Given the description of an element on the screen output the (x, y) to click on. 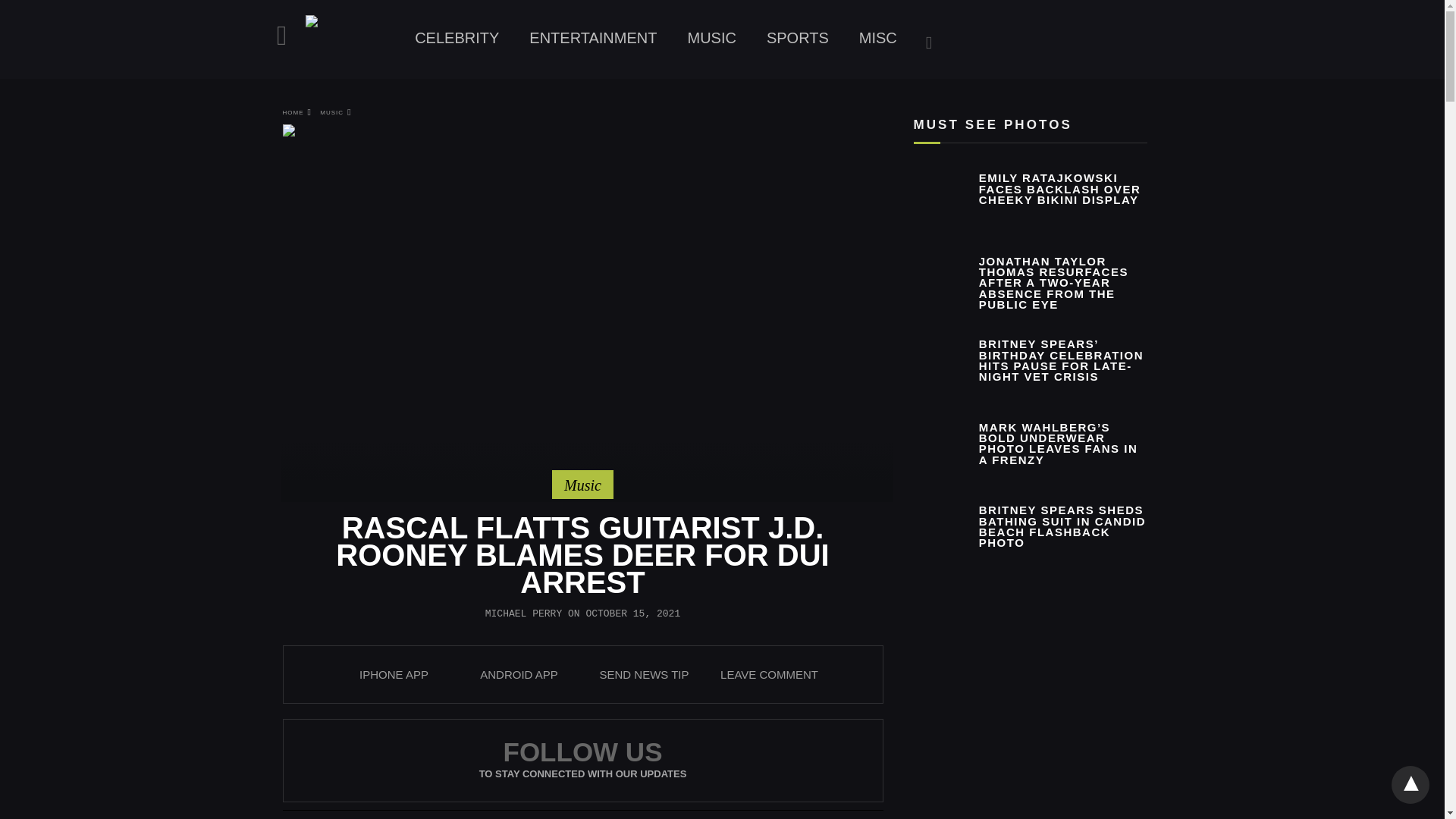
Entertainment News (592, 37)
MICHAEL PERRY (523, 613)
Thirsty for News (351, 41)
SPORTS (797, 37)
Music (582, 484)
CELEBRITY (455, 37)
IPHONE APP (393, 674)
Celebrity News (455, 37)
ANDROID APP (518, 674)
Music News (711, 37)
